Given the description of an element on the screen output the (x, y) to click on. 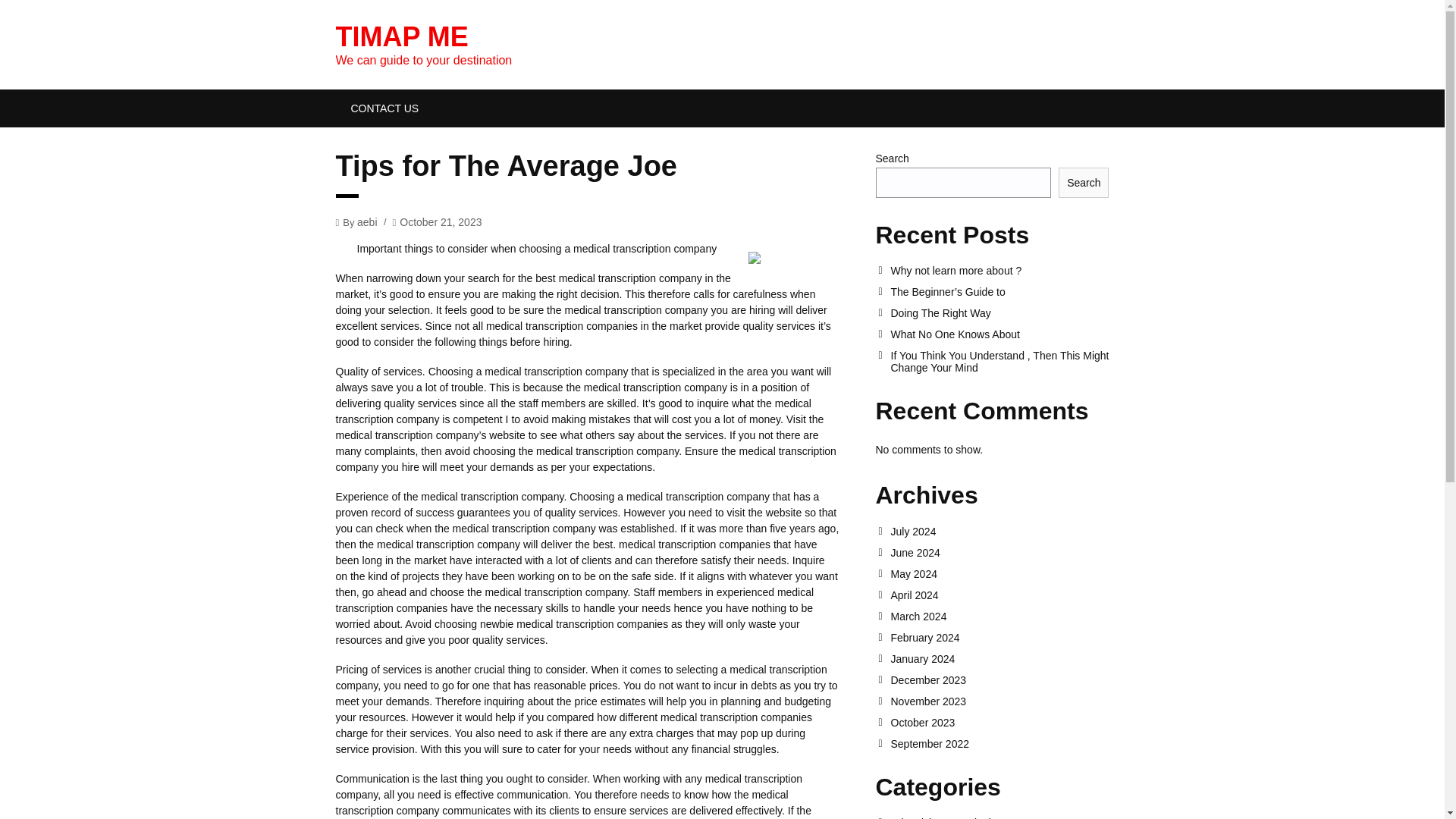
Doing The Right Way (998, 313)
April 2024 (998, 594)
March 2024 (998, 616)
What No One Knows About (998, 334)
aebi (366, 221)
July 2024 (998, 531)
November 2023 (998, 701)
September 2022 (998, 743)
Search (1083, 182)
May 2024 (998, 573)
CONTACT US (383, 108)
June 2024 (998, 552)
Why not learn more about ? (998, 270)
February 2024 (998, 637)
